Given the description of an element on the screen output the (x, y) to click on. 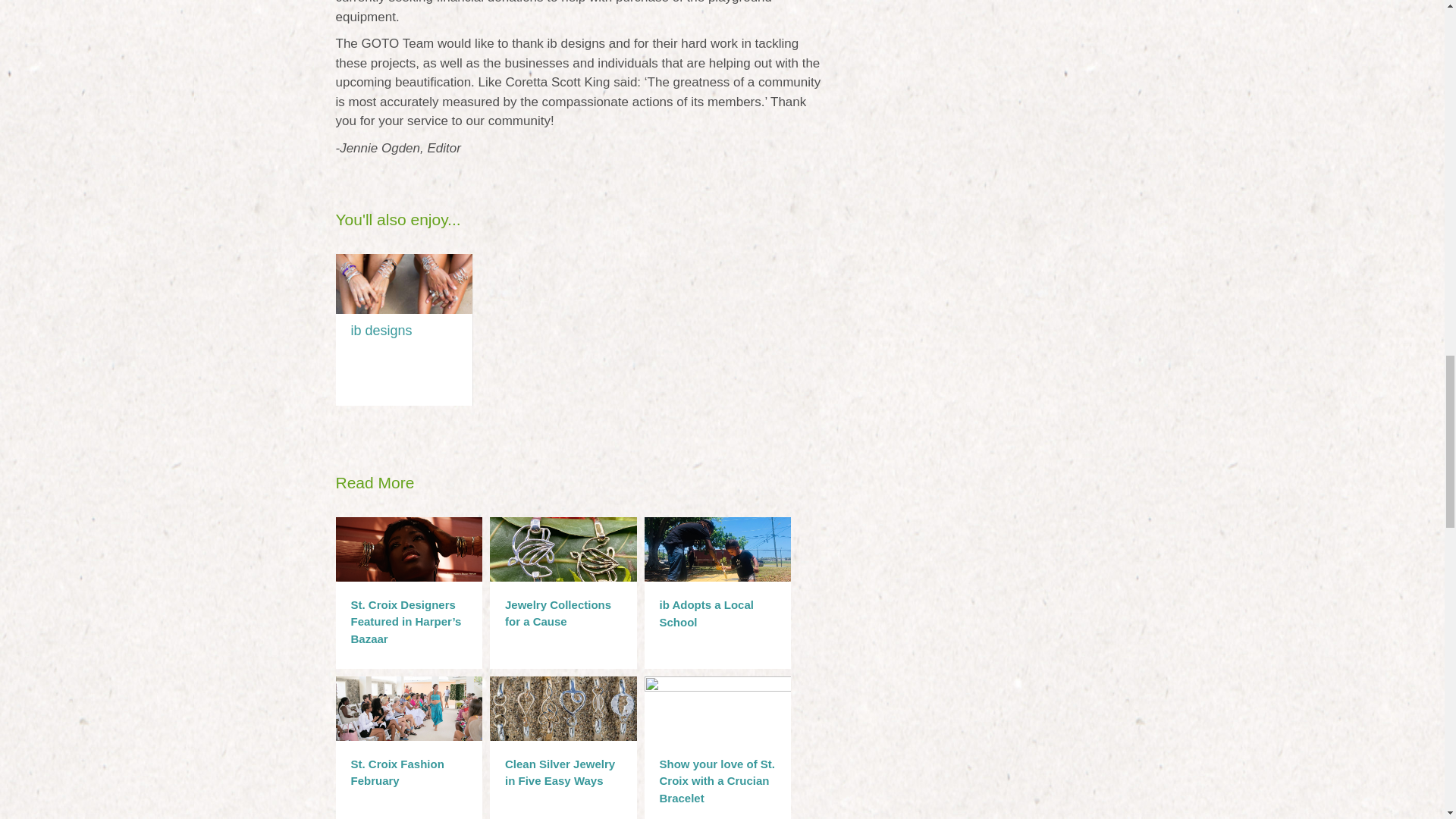
ib designs (381, 330)
